Given the description of an element on the screen output the (x, y) to click on. 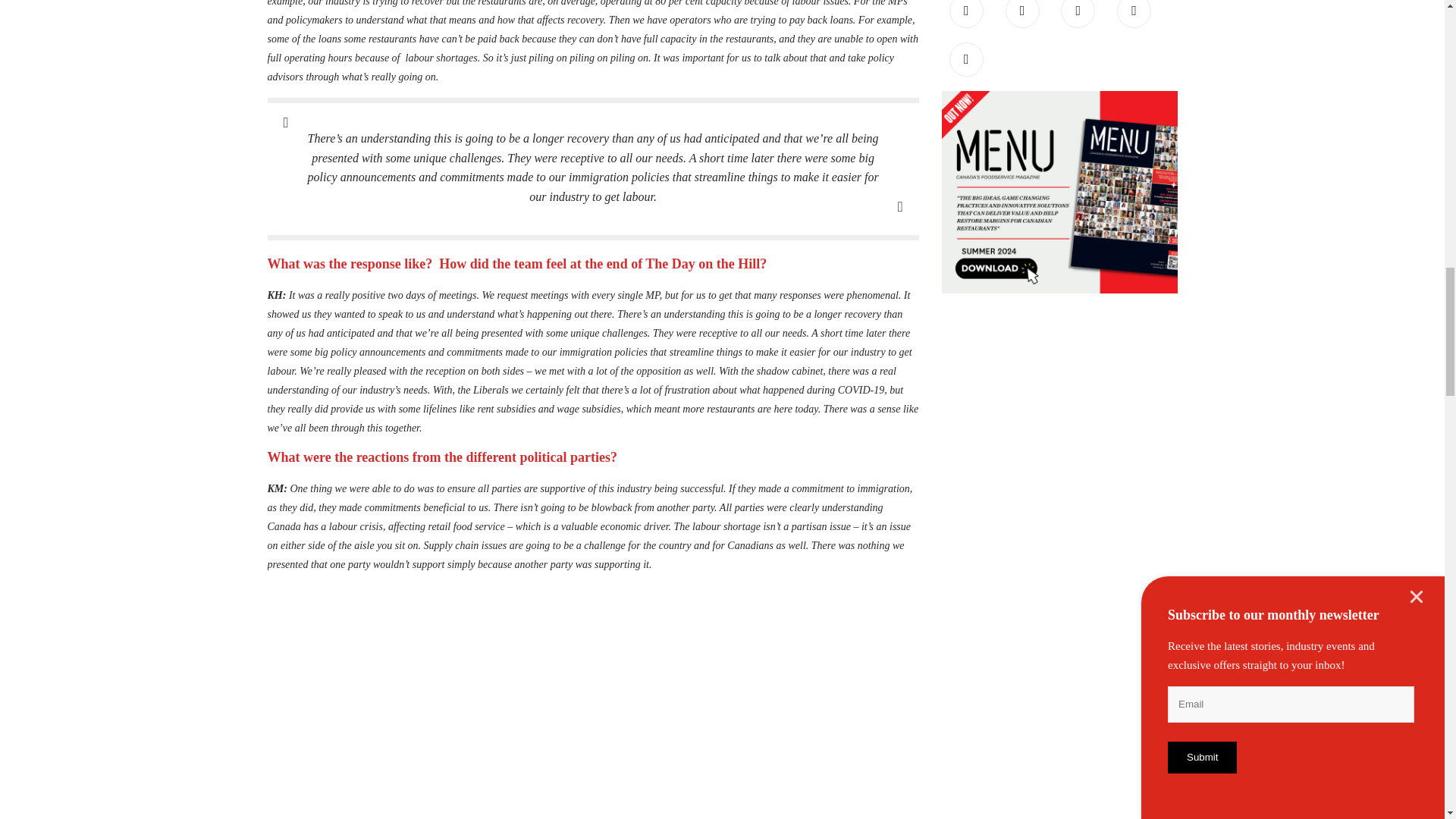
instagram (966, 59)
linkedin (1077, 13)
Facebook (966, 13)
youtube (1133, 13)
Twitter (1022, 13)
